Given the description of an element on the screen output the (x, y) to click on. 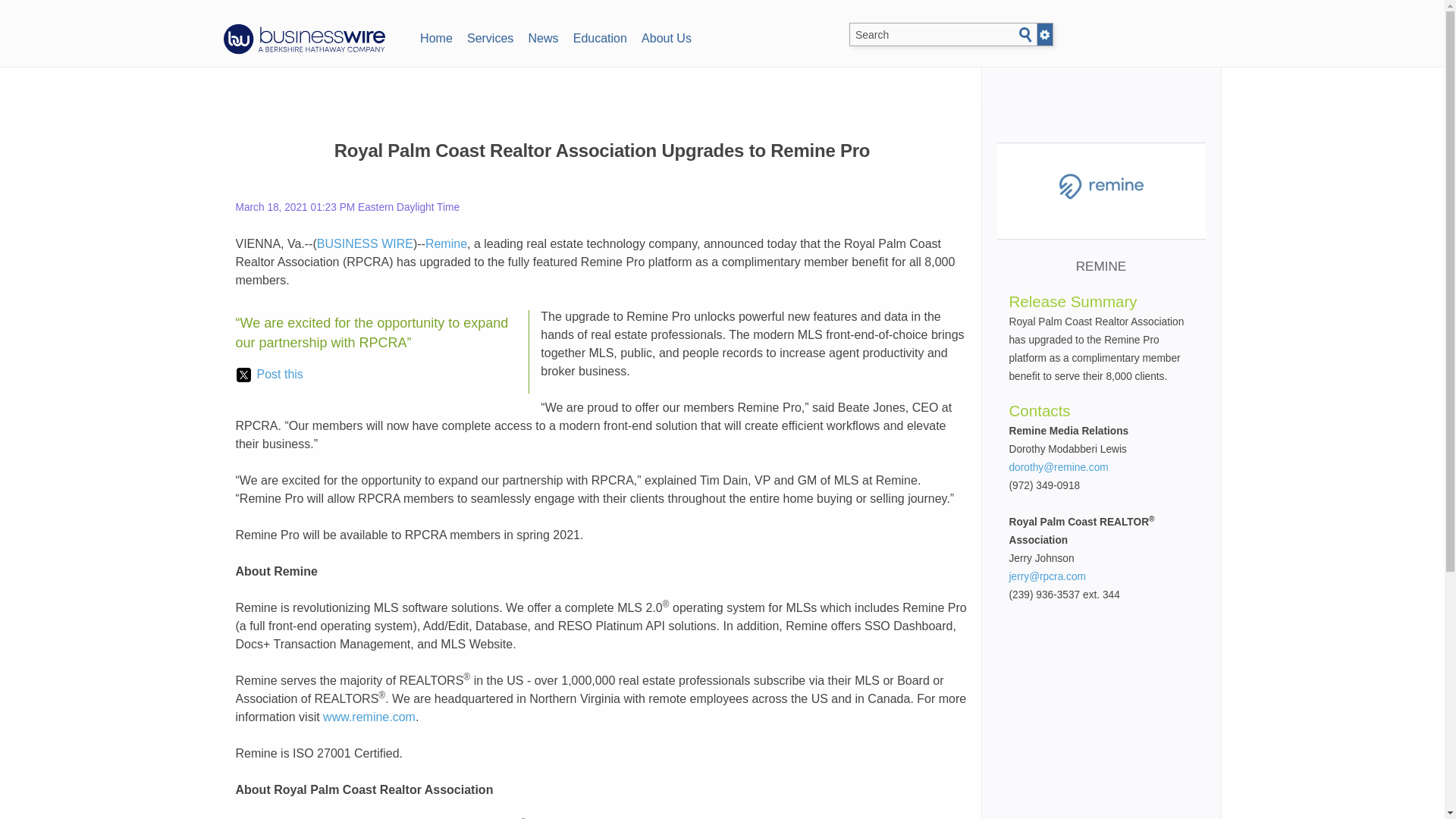
Search (1025, 34)
www.remine.com (368, 716)
Remine (446, 243)
Education (599, 36)
Search BusinessWire.com (948, 34)
Home (436, 36)
Post this (269, 374)
About Us (665, 36)
BUSINESS WIRE (365, 243)
Services (490, 36)
